Given the description of an element on the screen output the (x, y) to click on. 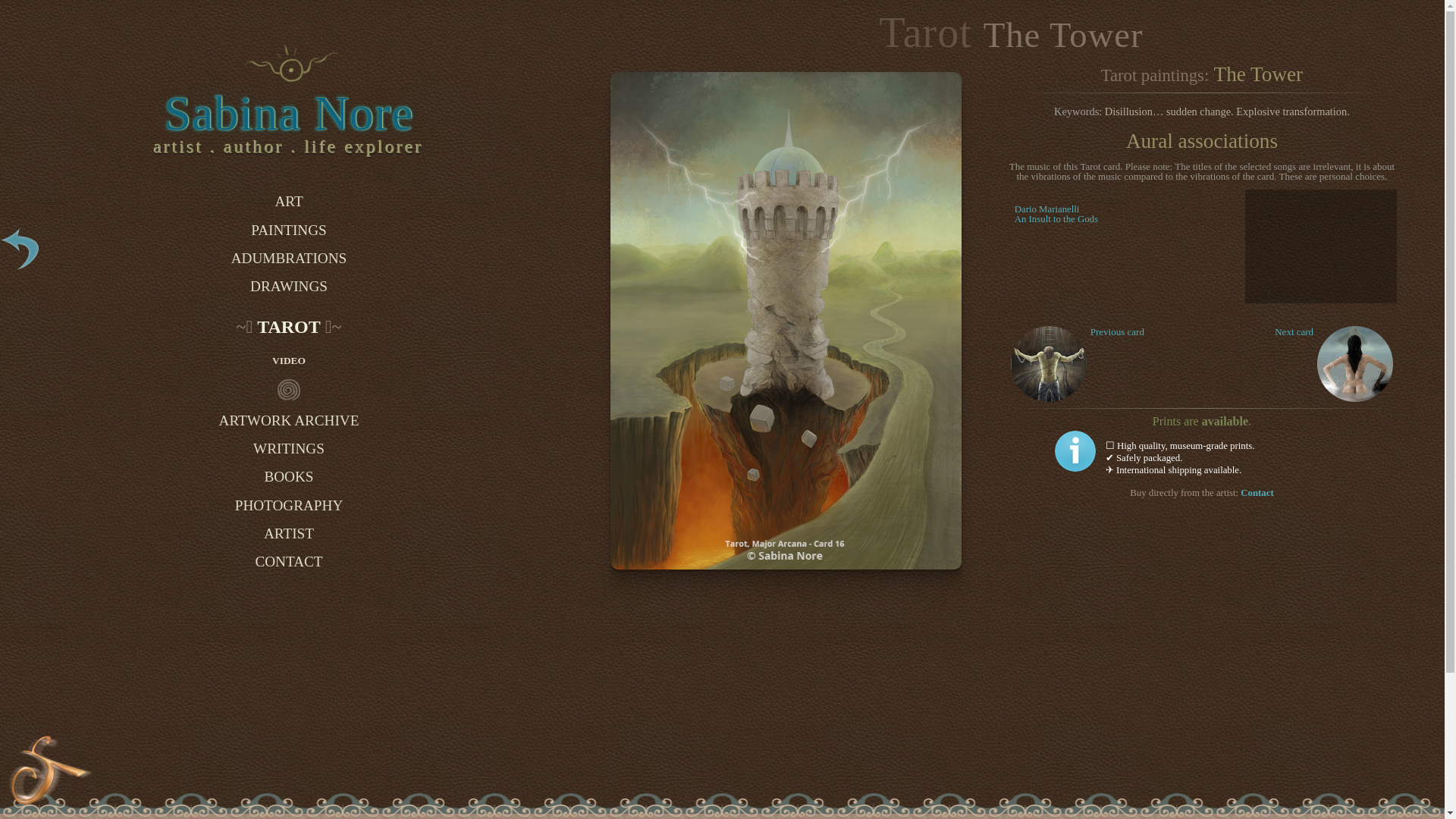
ARTWORK ARCHIVE (288, 420)
DRAWINGS (288, 286)
Tarot card: The Star (1355, 363)
Back to Tarot paintings (1055, 213)
Shipping information (22, 249)
ARTIST (1075, 451)
CONTACT (288, 533)
Contact (288, 561)
PHOTOGRAPHY (1256, 492)
